Given the description of an element on the screen output the (x, y) to click on. 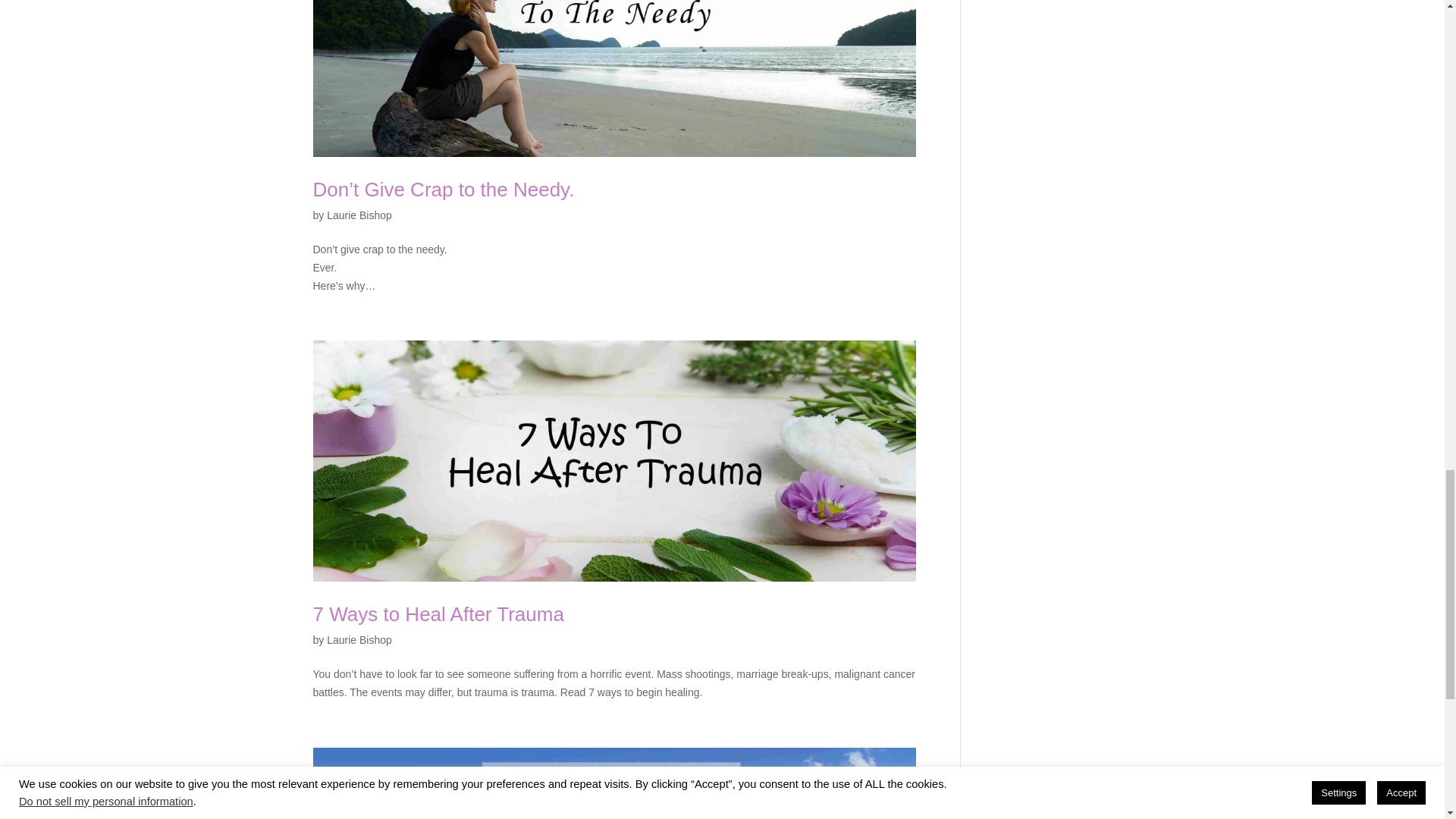
Laurie Bishop (358, 215)
Posts by Laurie Bishop (358, 215)
Laurie Bishop (358, 639)
Posts by Laurie Bishop (358, 639)
7 Ways to Heal After Trauma (438, 613)
